Given the description of an element on the screen output the (x, y) to click on. 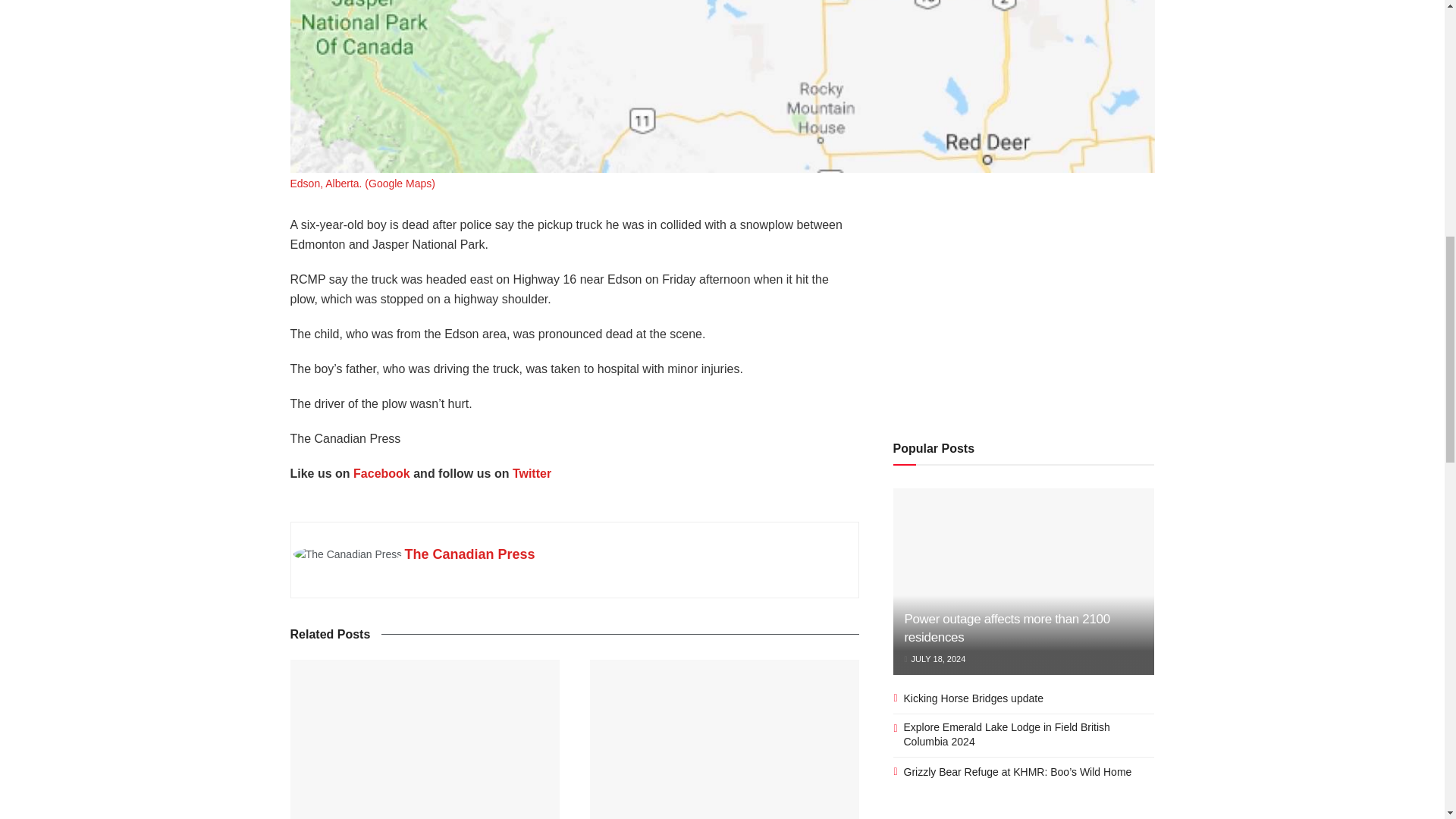
3rd party ad content (1023, 309)
Facebook (381, 472)
The Canadian Press (469, 554)
Twitter (531, 472)
